Given the description of an element on the screen output the (x, y) to click on. 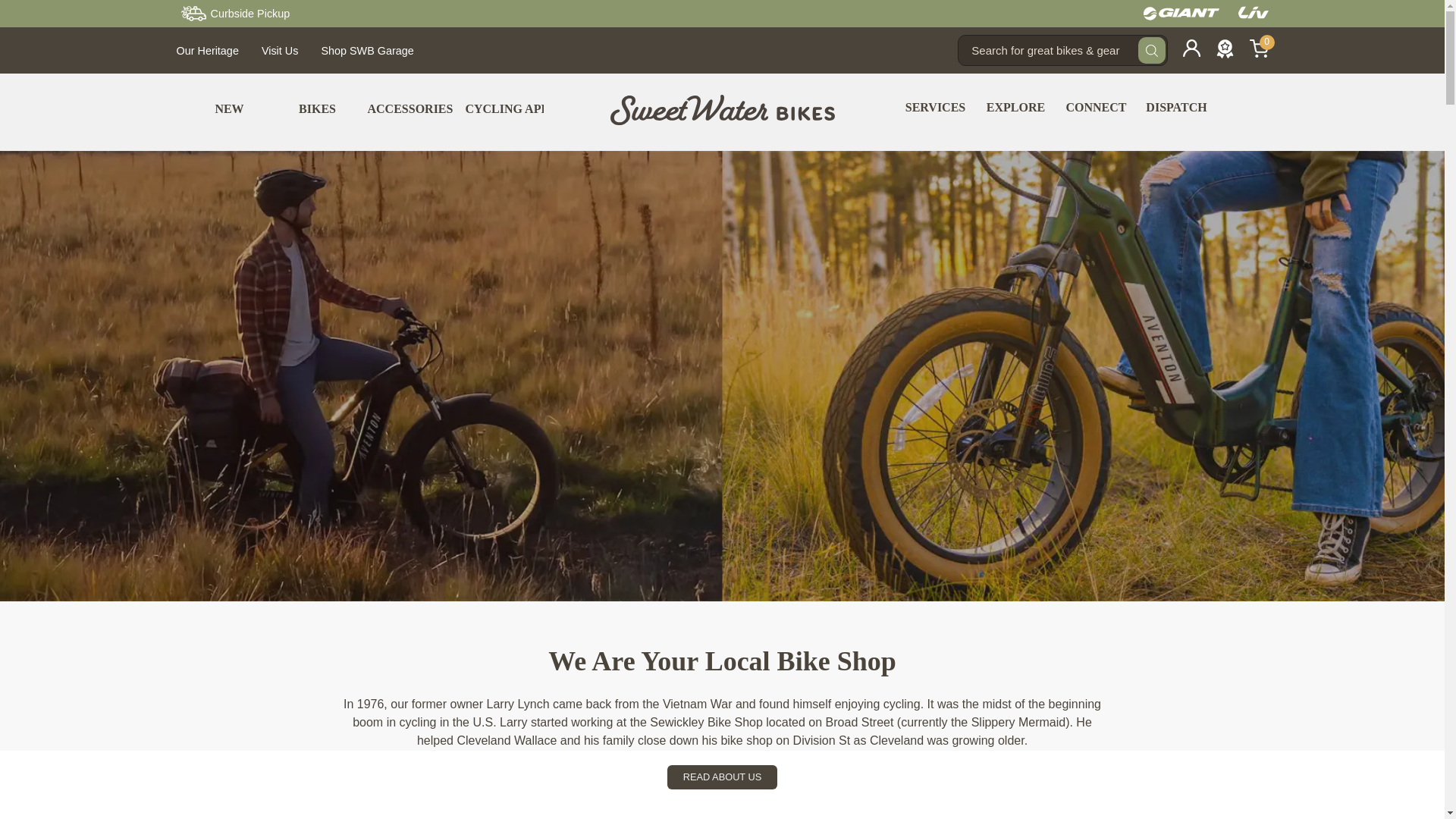
DISPATCH (1175, 107)
My cart (1258, 54)
Visit Us (280, 50)
My Rewards (1223, 54)
CYCLING APPAREL (522, 108)
ACCESSORIES (409, 108)
Shop SWB Garage (366, 50)
Login (1190, 52)
0 (1258, 54)
Our Heritage (207, 50)
